Given the description of an element on the screen output the (x, y) to click on. 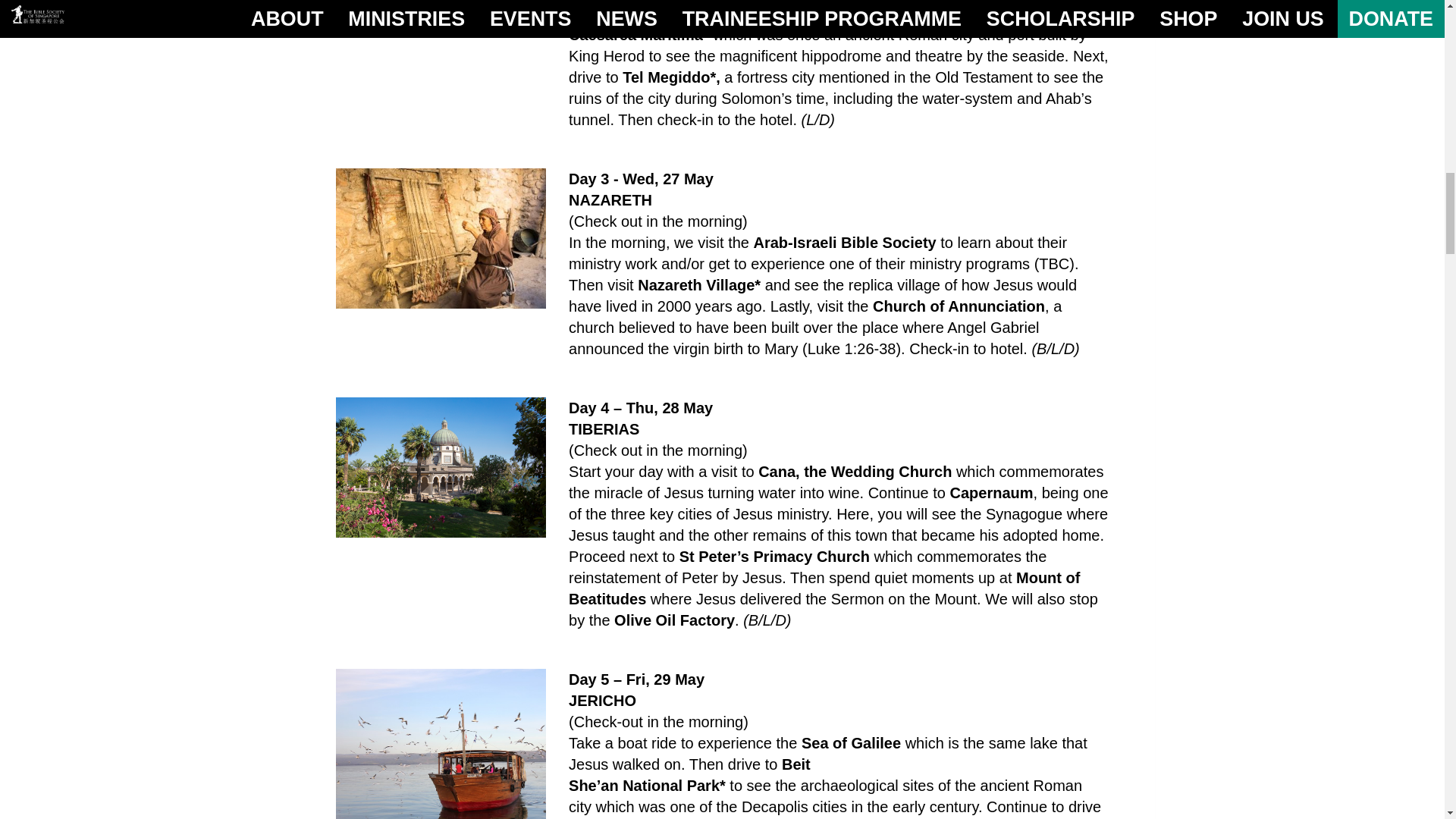
Sea of Galilee (440, 744)
Mount of Beatitudes 2 (440, 467)
Caesarea Maritima (440, 9)
